Given the description of an element on the screen output the (x, y) to click on. 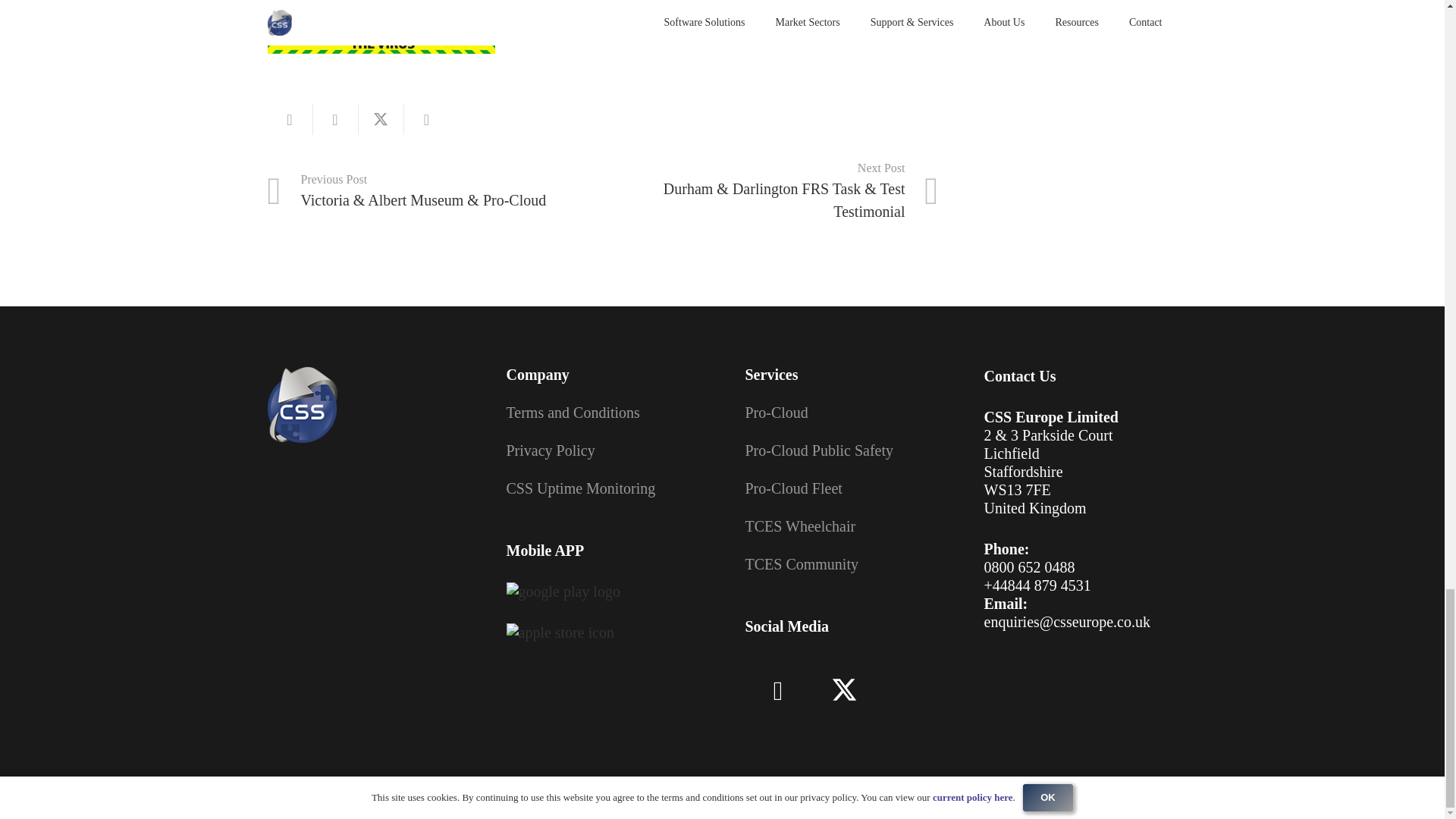
Share this (425, 119)
Email this (289, 119)
Share this (335, 119)
Tweet this (380, 119)
LinkedIn (777, 691)
Twitter (843, 691)
